Given the description of an element on the screen output the (x, y) to click on. 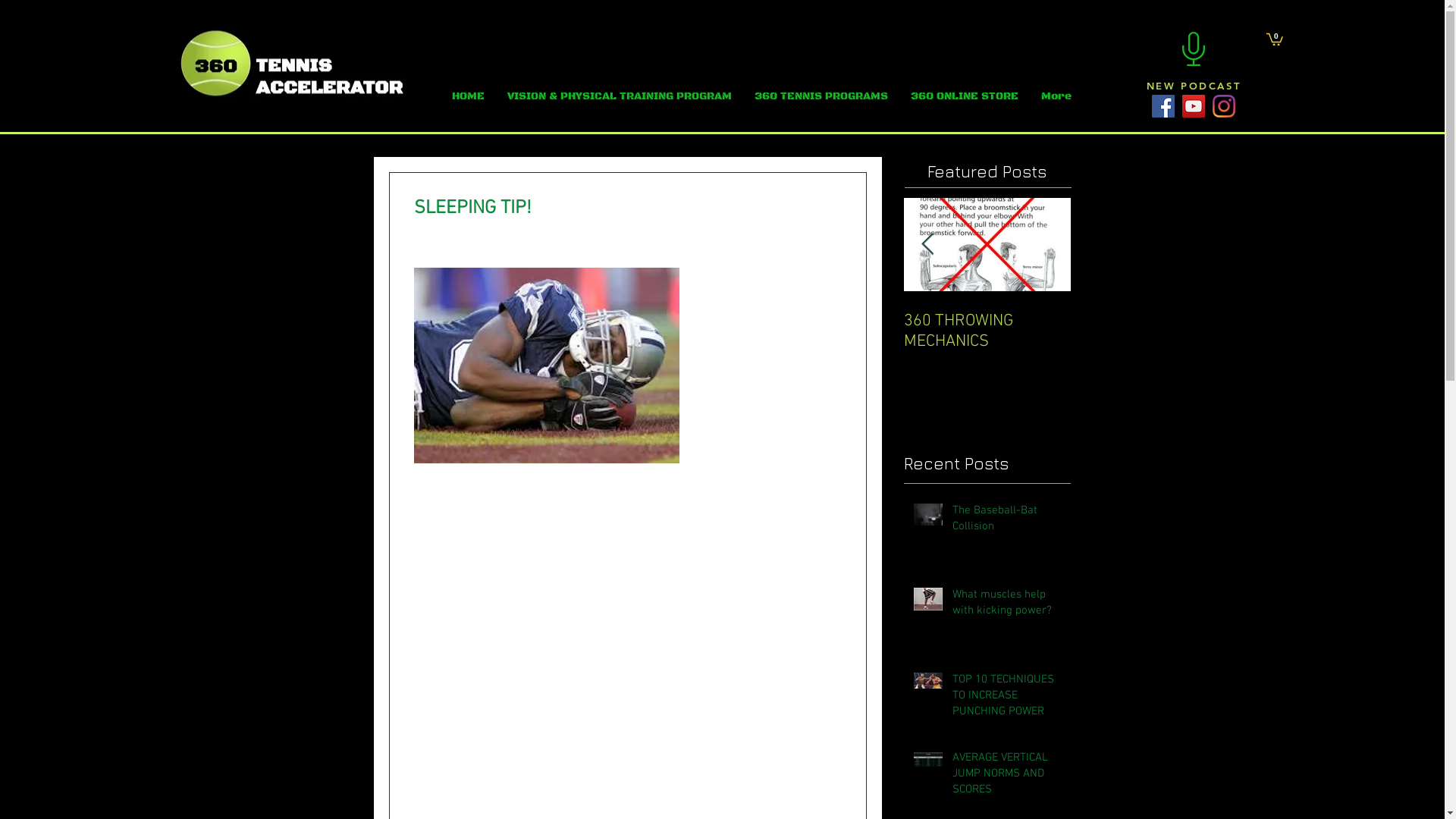
VISION & PHYSICAL TRAINING PROGRAM Element type: text (619, 96)
HOME Element type: text (467, 96)
TOP 10 TECHNIQUES TO INCREASE PUNCHING POWER Element type: text (1006, 698)
360 THROWING MECHANICS Element type: text (986, 330)
Baseball Pitching Velocity Chart from age 8-22+ Element type: text (653, 341)
360 TENNIS PROGRAMS Element type: text (821, 96)
Scientific Proof Stretching Reduces Pitching Velocity Element type: text (820, 341)
The Baseball-Bat Collision Element type: text (1006, 521)
AVERAGE VERTICAL JUMP NORMS AND SCORES Element type: text (1006, 776)
360 ONLINE STORE Element type: text (964, 96)
Golf Swing Speed Element type: text (486, 320)
What muscles help with kicking power? Element type: text (1006, 605)
0 Element type: text (1274, 38)
